Given the description of an element on the screen output the (x, y) to click on. 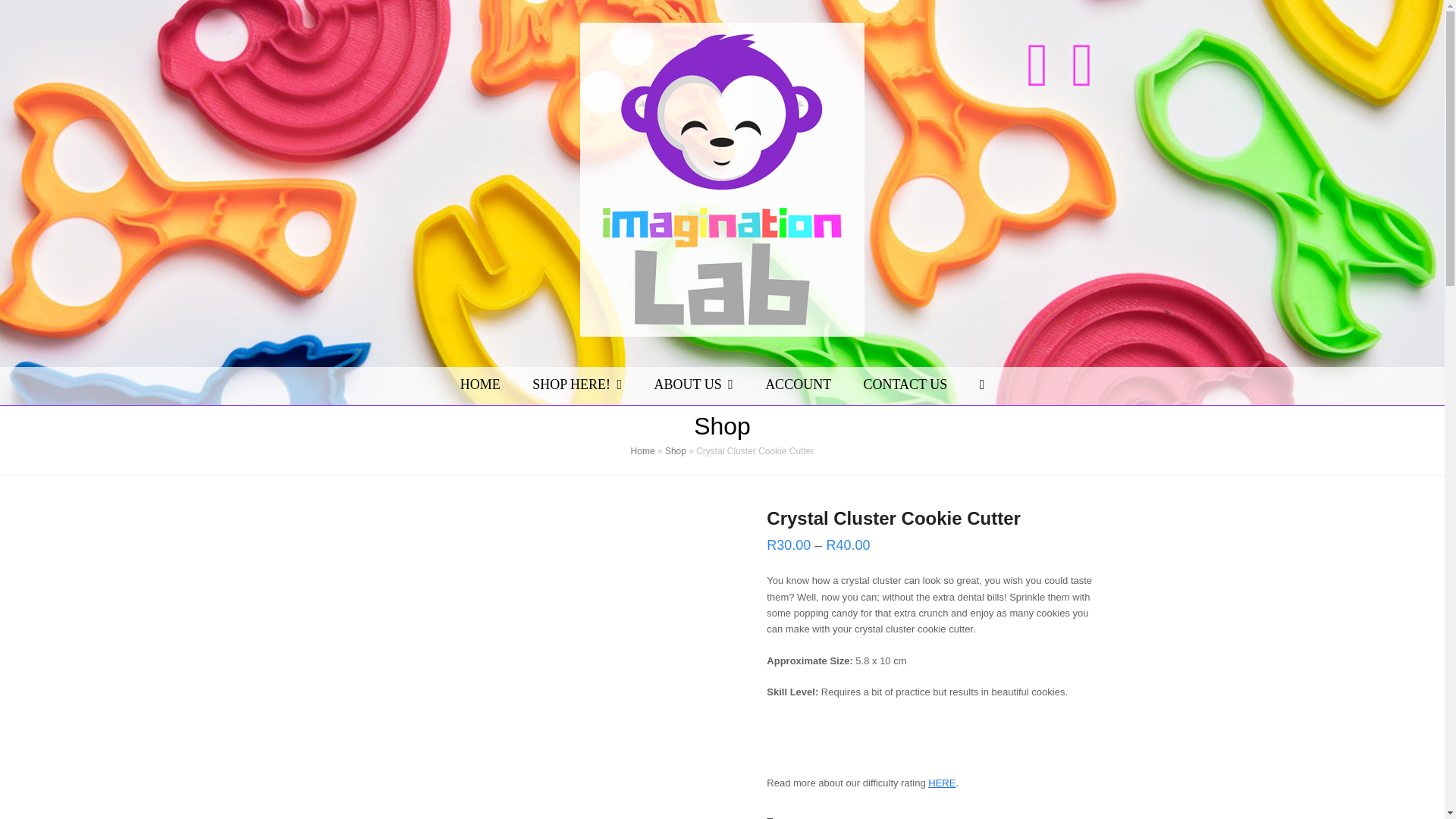
Shop (675, 450)
SHOP HERE! (577, 385)
CONTACT US (905, 385)
ABOUT US (693, 385)
HERE (941, 782)
ACCOUNT (798, 385)
Home (642, 450)
HOME (480, 385)
